Given the description of an element on the screen output the (x, y) to click on. 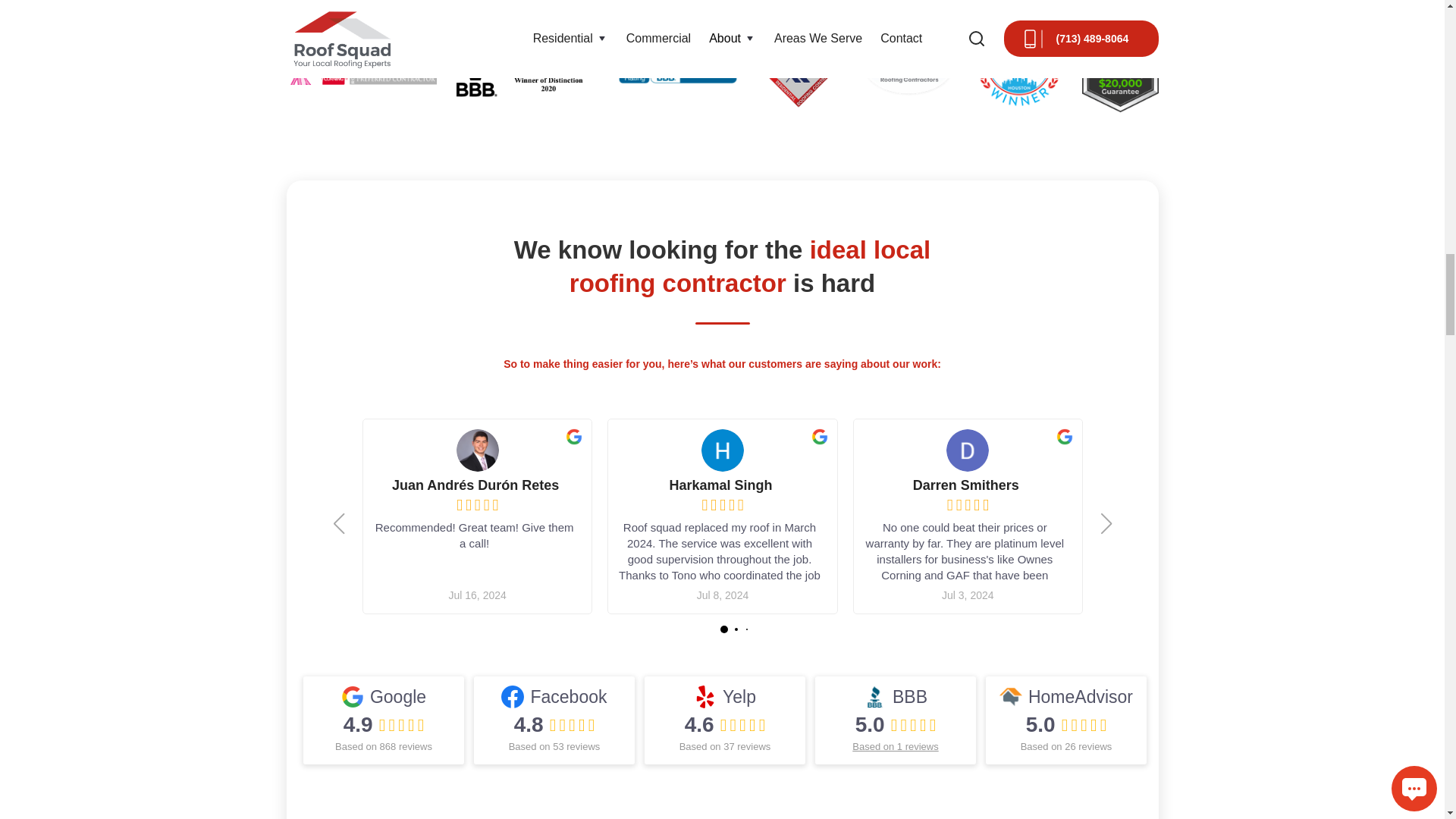
Reviews (896, 725)
Reviews (383, 725)
Reviews (724, 725)
Reviews (553, 725)
Reviews (1066, 725)
